Given the description of an element on the screen output the (x, y) to click on. 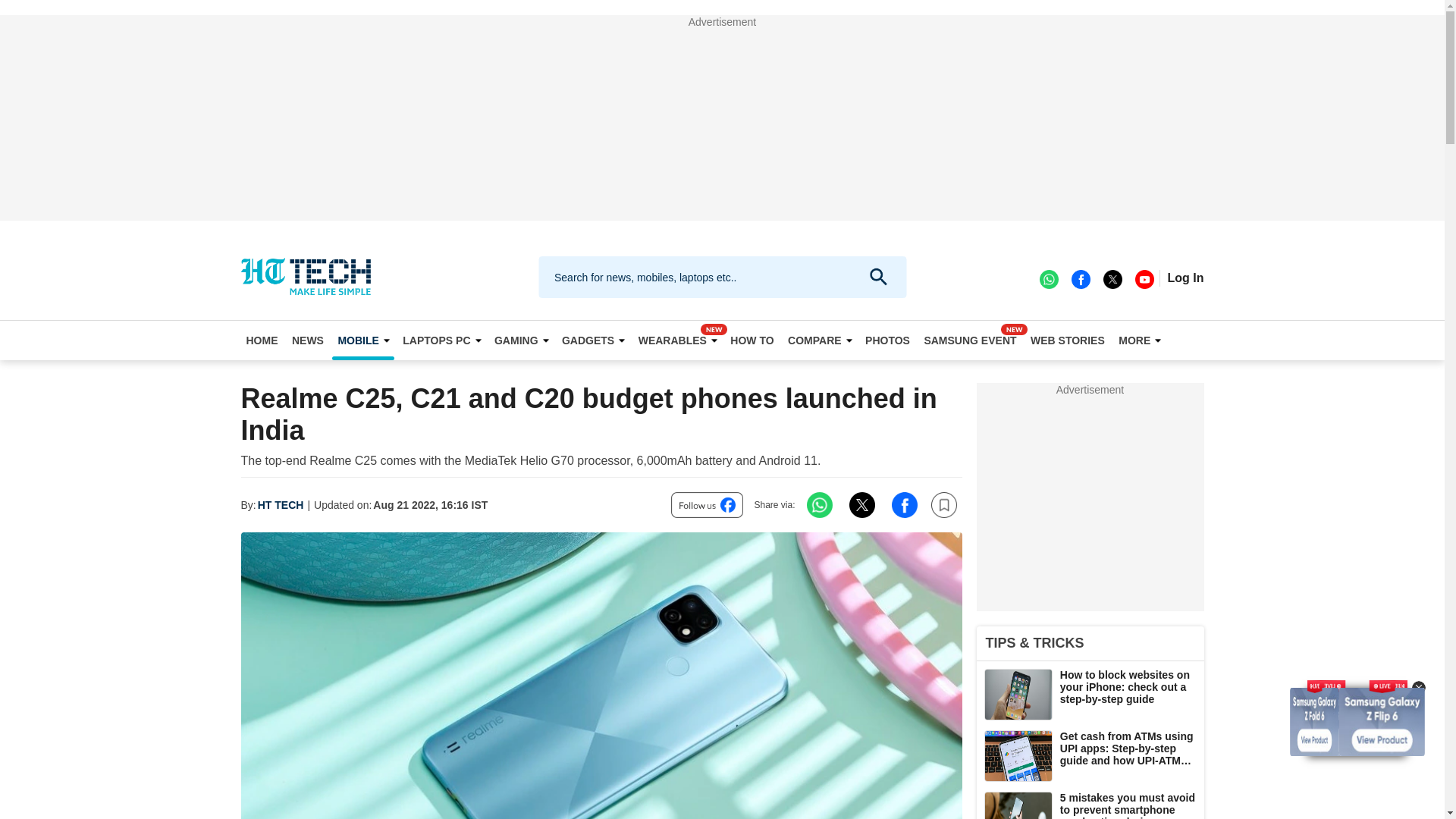
WEARABLES (677, 340)
youtube (1143, 278)
LAPTOPS PC (440, 340)
Login (1185, 277)
facebook (1079, 278)
NEWS (307, 340)
twitter (1111, 278)
WhatsApp channel (1048, 278)
GADGETS (592, 340)
HOW TO (751, 340)
HOME (262, 340)
MOBILE (362, 340)
